Given the description of an element on the screen output the (x, y) to click on. 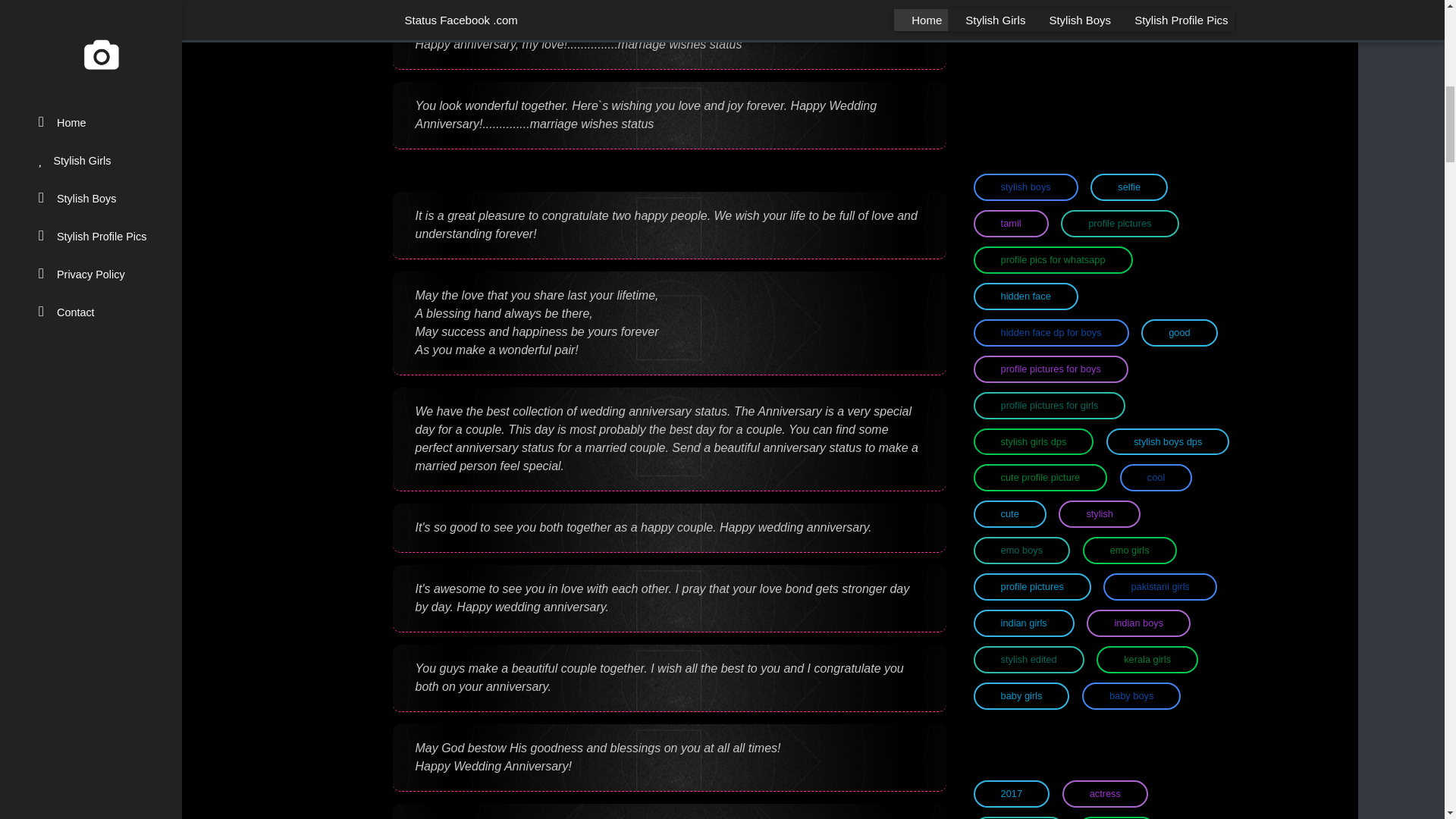
hidden face dp profile pictures for boys (1051, 332)
Advertisement (1101, 44)
good profile pictures dp images for facebook whatsapp (1179, 332)
hidden face girl dp (1026, 296)
profile pictures for girls (1049, 405)
tamil dp profile pictures quotes for whatsapp facebook (1011, 223)
profile pictures for whatsapp (1053, 259)
profile pictures for boys (1051, 369)
stylish profile pictures dp for whatsapp, facebook (1119, 223)
